Given the description of an element on the screen output the (x, y) to click on. 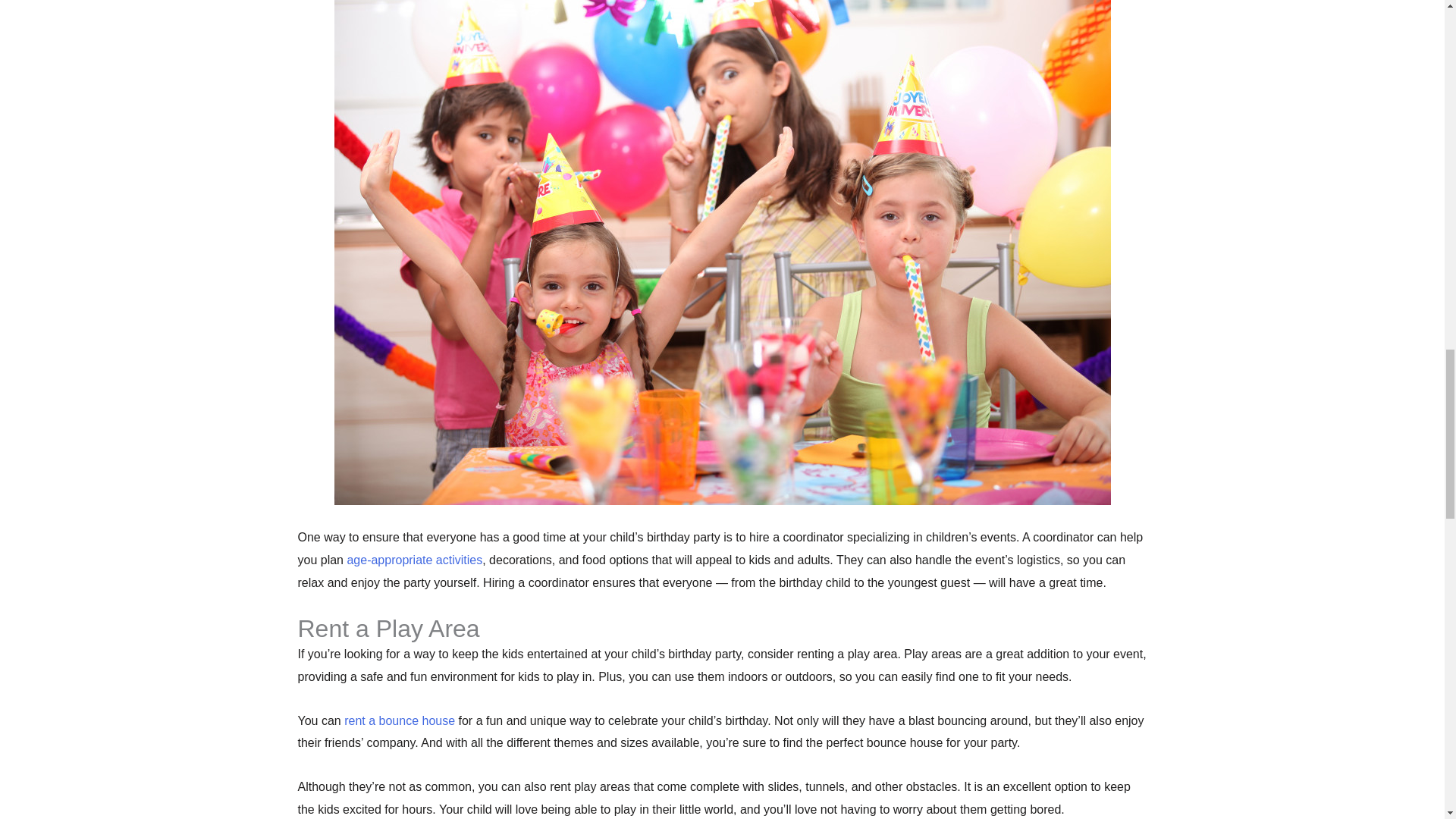
age-appropriate activities (413, 559)
rent a bounce house (398, 720)
